Given the description of an element on the screen output the (x, y) to click on. 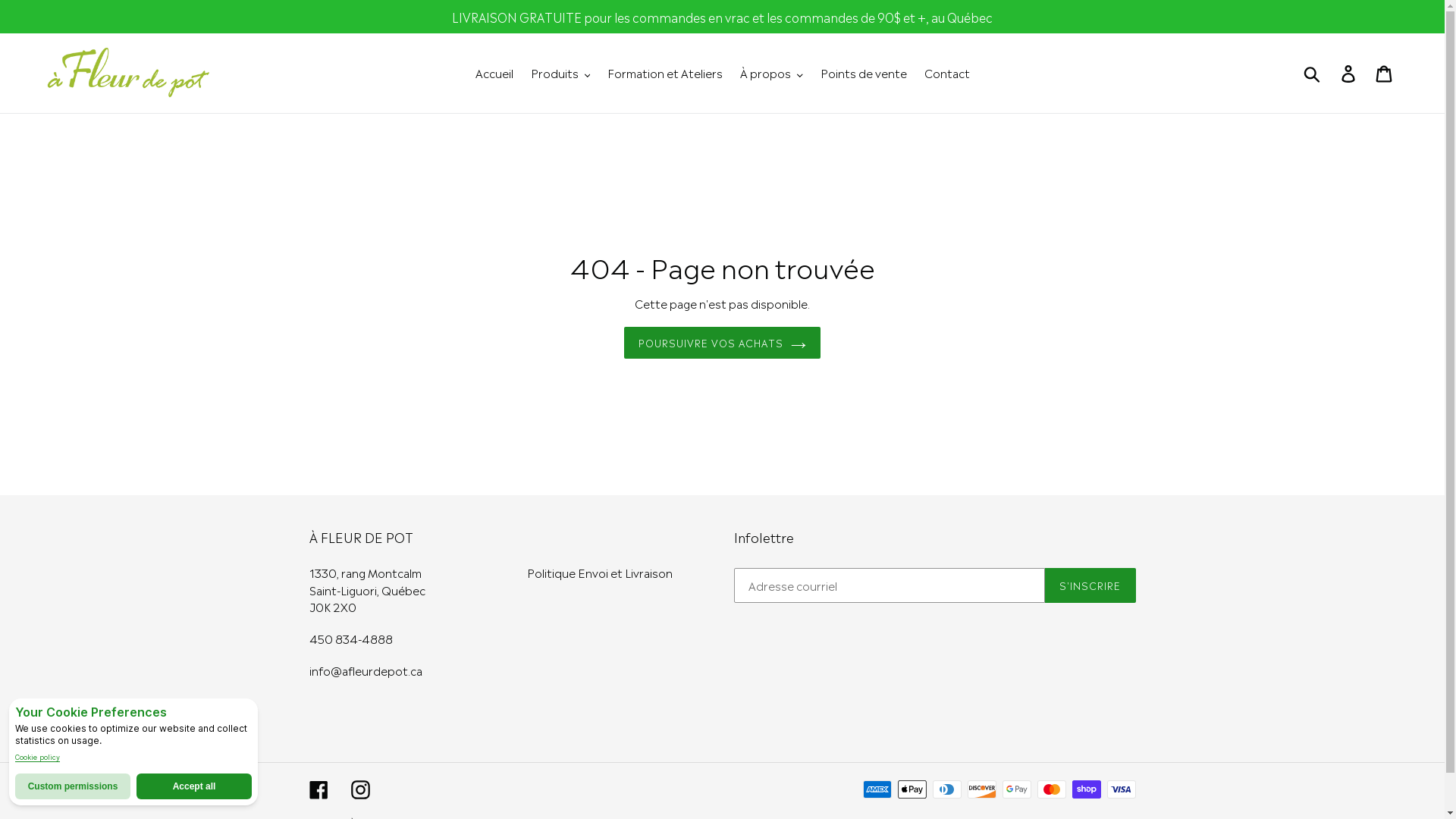
Contact Element type: text (946, 73)
Politique Envoi et Livraison Element type: text (599, 572)
Points de vente Element type: text (863, 73)
Accueil Element type: text (493, 73)
Panier Element type: text (1384, 73)
Soumettre Element type: text (1312, 73)
S'INSCRIRE Element type: text (1089, 585)
Formation et Ateliers Element type: text (664, 73)
Se connecter Element type: text (1349, 73)
Instagram Element type: text (359, 788)
Facebook Element type: text (318, 788)
POURSUIVRE VOS ACHATS Element type: text (722, 343)
